Given the description of an element on the screen output the (x, y) to click on. 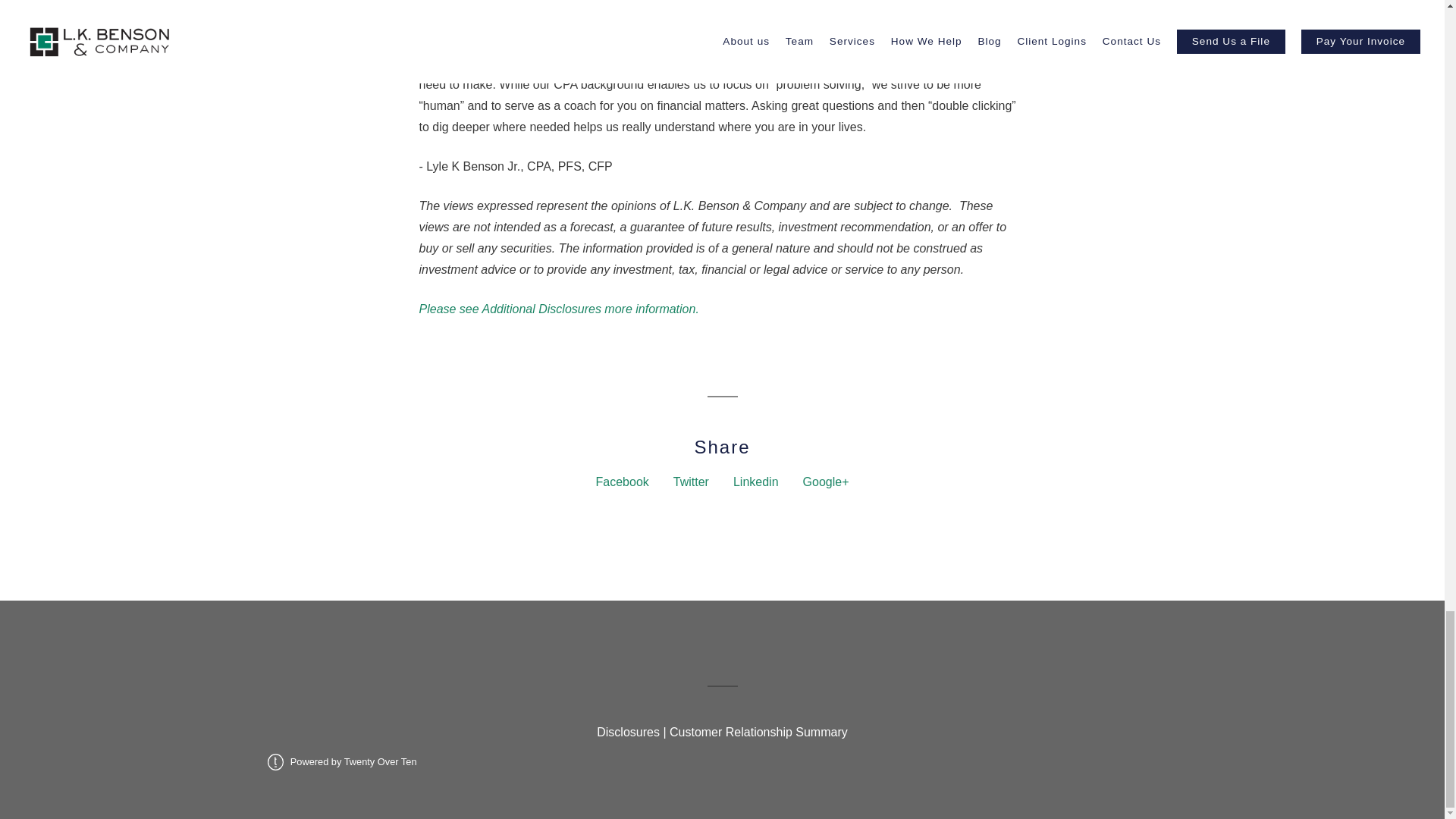
Facebook (622, 481)
Disclosures (627, 731)
Powered by Twenty Over Ten (341, 761)
Please see Additional Disclosures more information. (558, 308)
Customer Relationship Summary (758, 731)
Linkedin (755, 481)
Twitter (690, 481)
